Given the description of an element on the screen output the (x, y) to click on. 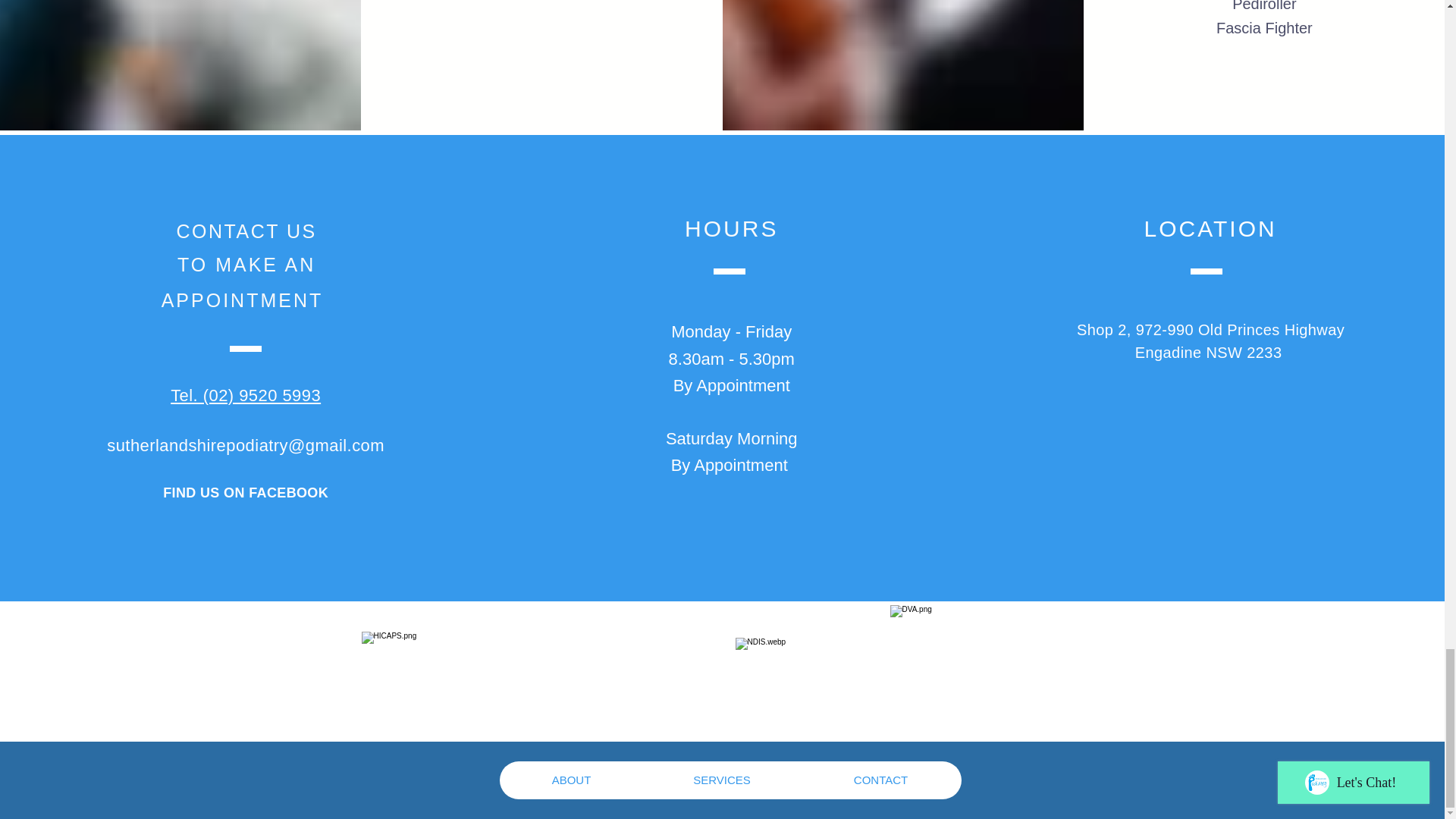
ABOUT (571, 780)
Google Maps (1207, 475)
CONTACT (879, 780)
SERVICES (721, 780)
